Given the description of an element on the screen output the (x, y) to click on. 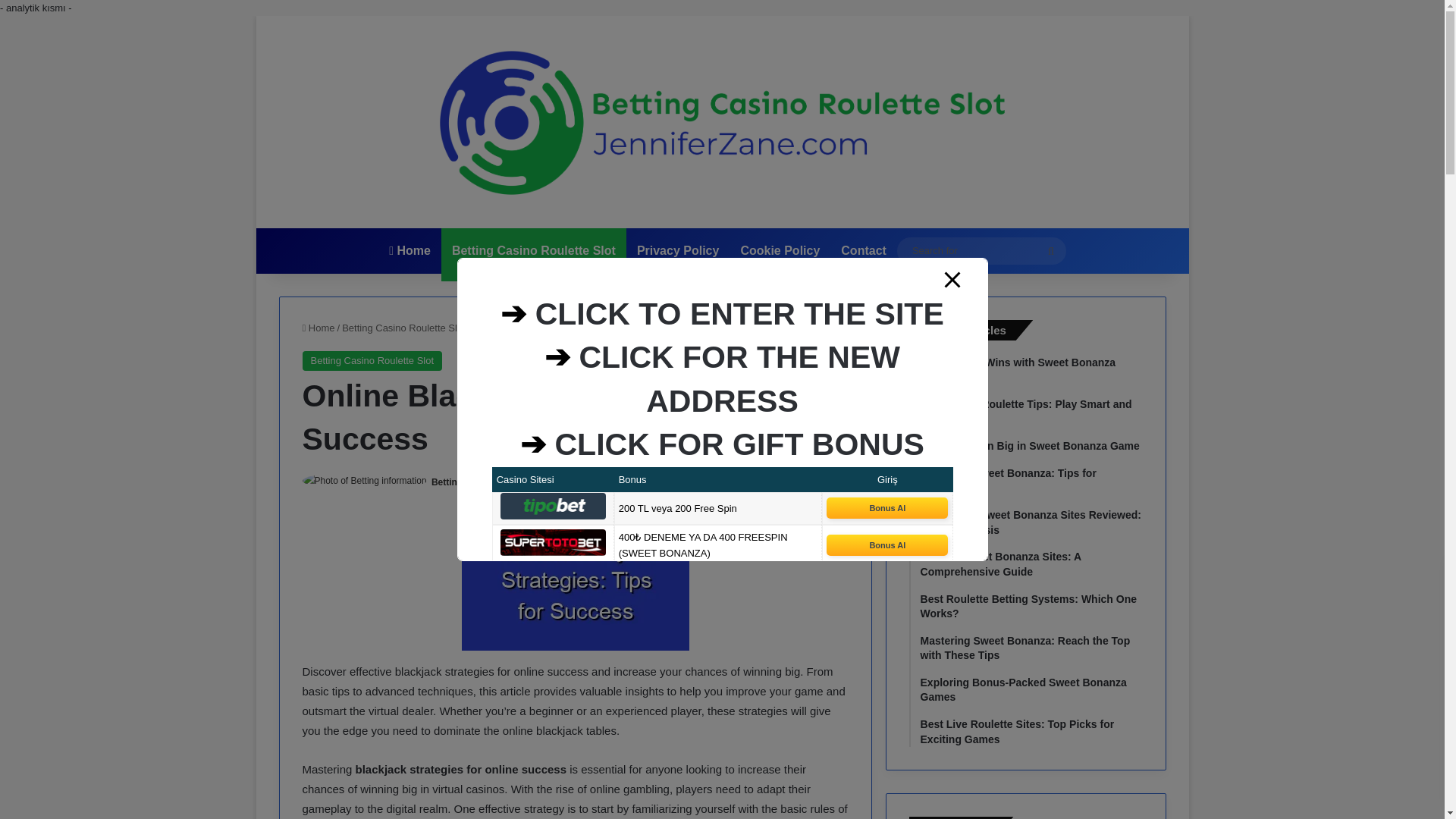
Betting Casino Roulette Slot (371, 361)
Privacy Policy (678, 250)
Home (317, 327)
Betting Casino Roulette Slot (403, 327)
Online Blackjack Strategies: Tips for Success (574, 582)
Betting information (472, 481)
Search for (980, 250)
Betting information (472, 481)
Betting Casino Roulette Slot (533, 250)
